Given the description of an element on the screen output the (x, y) to click on. 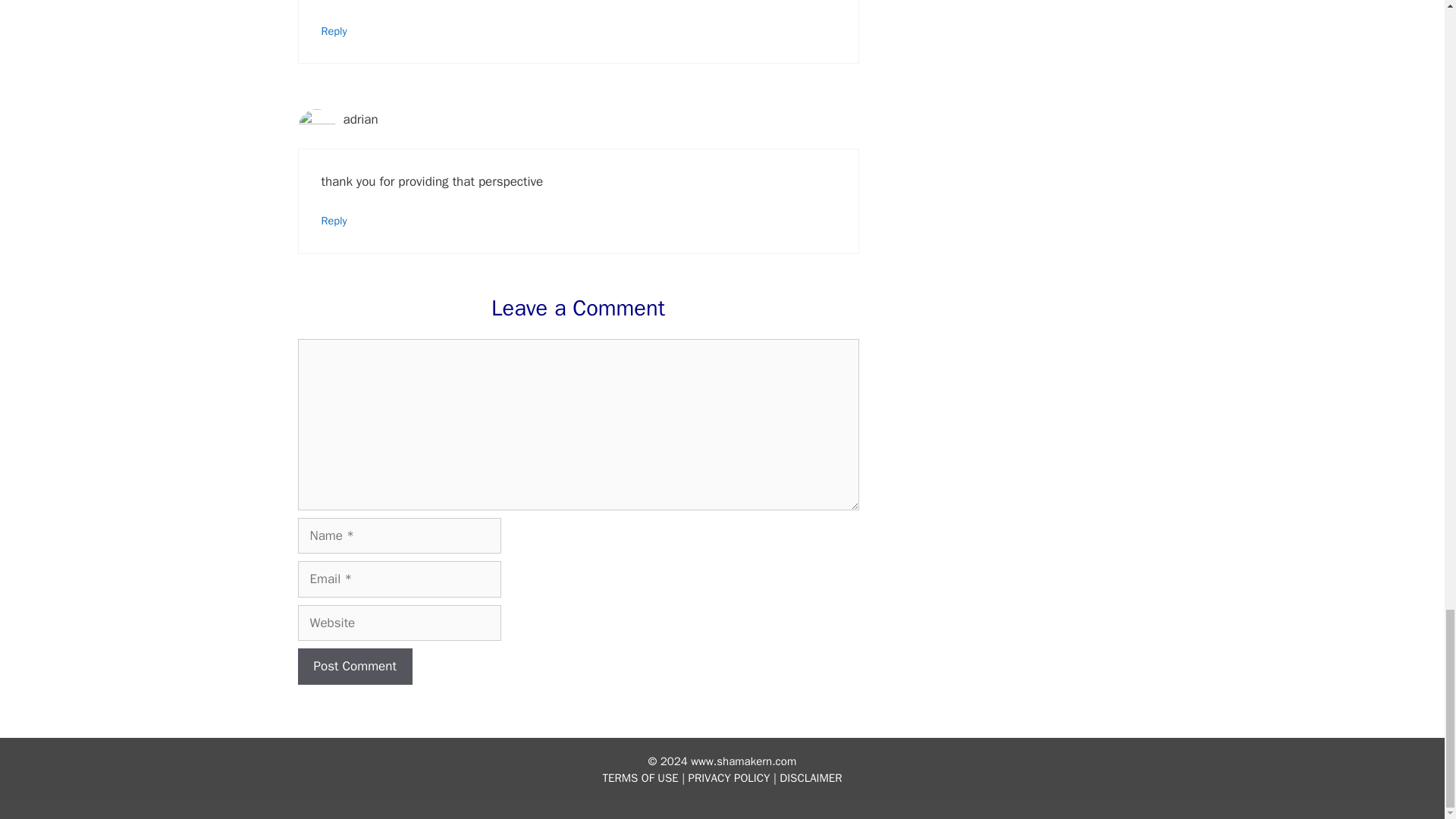
Post Comment (354, 666)
Reply (334, 30)
Post Comment (354, 666)
Reply (334, 220)
